Given the description of an element on the screen output the (x, y) to click on. 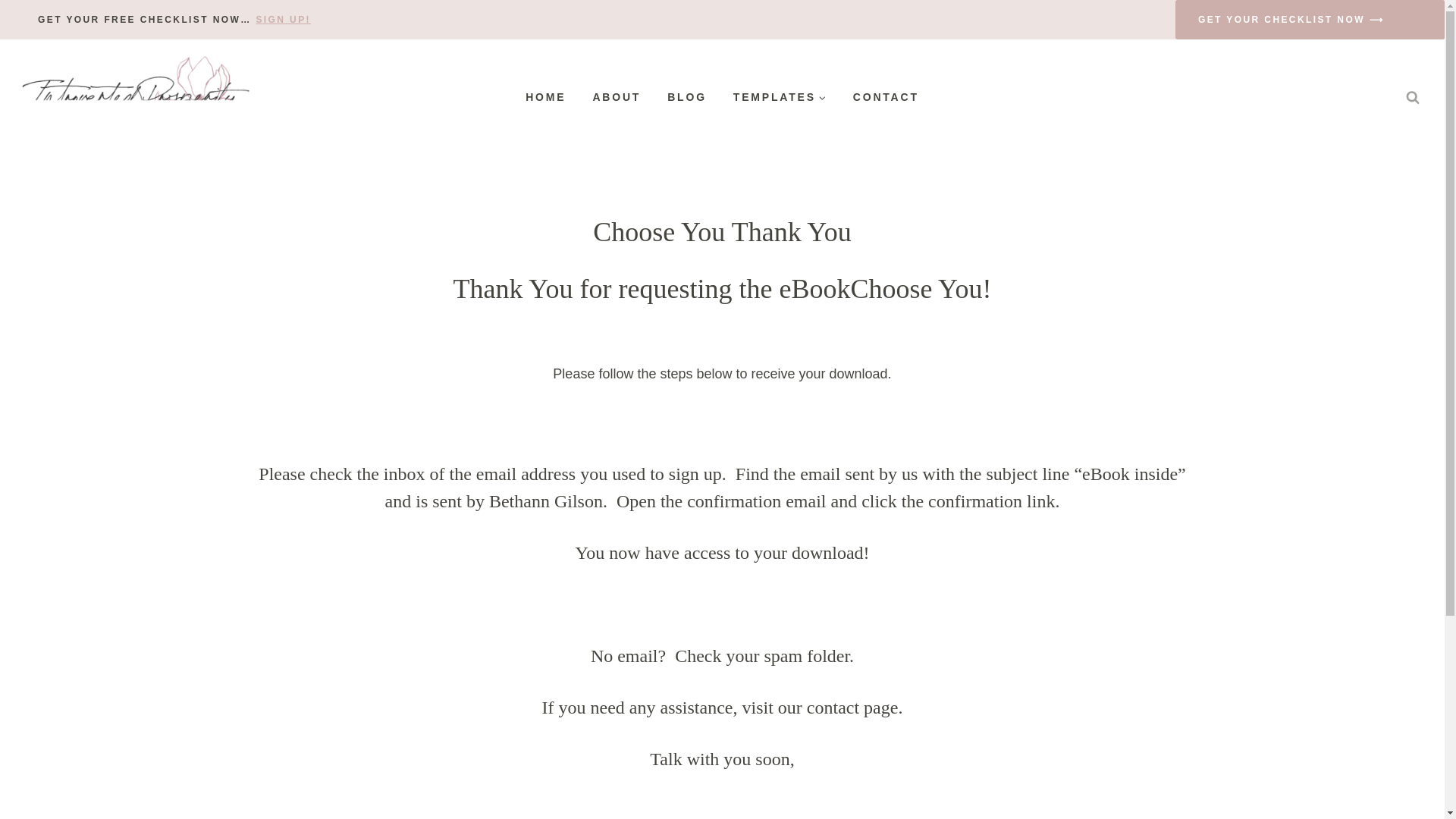
SIGN UP! (283, 19)
HOME (545, 96)
ABOUT (616, 96)
CONTACT (885, 96)
TEMPLATES (779, 96)
BLOG (686, 96)
